Given the description of an element on the screen output the (x, y) to click on. 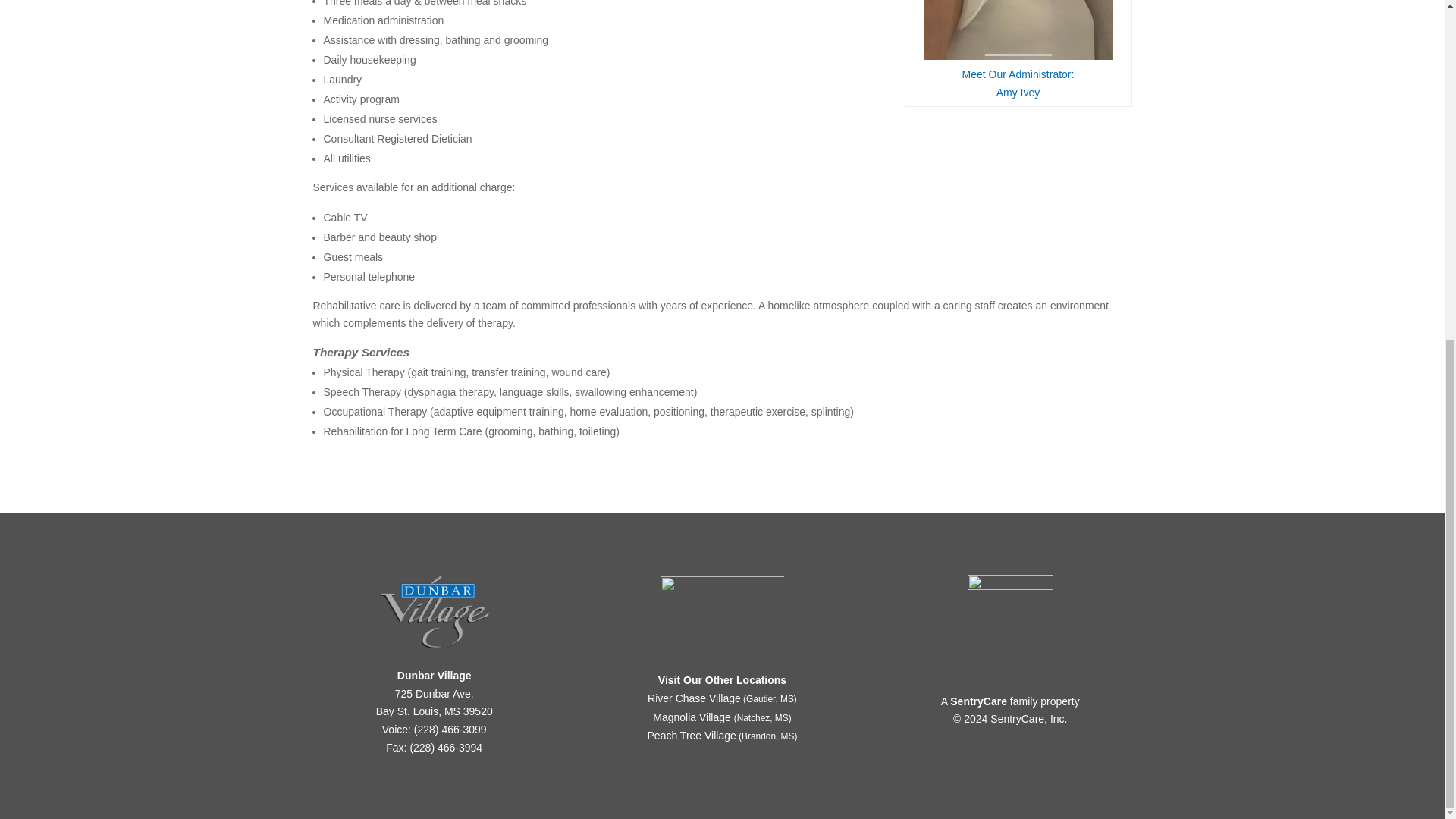
SentryCare, Inc. (1028, 718)
DunbarLogo (434, 611)
Peach Tree Village (1018, 82)
SentryCare (691, 735)
Magnolia Village (978, 701)
River Chase Village (691, 717)
